Given the description of an element on the screen output the (x, y) to click on. 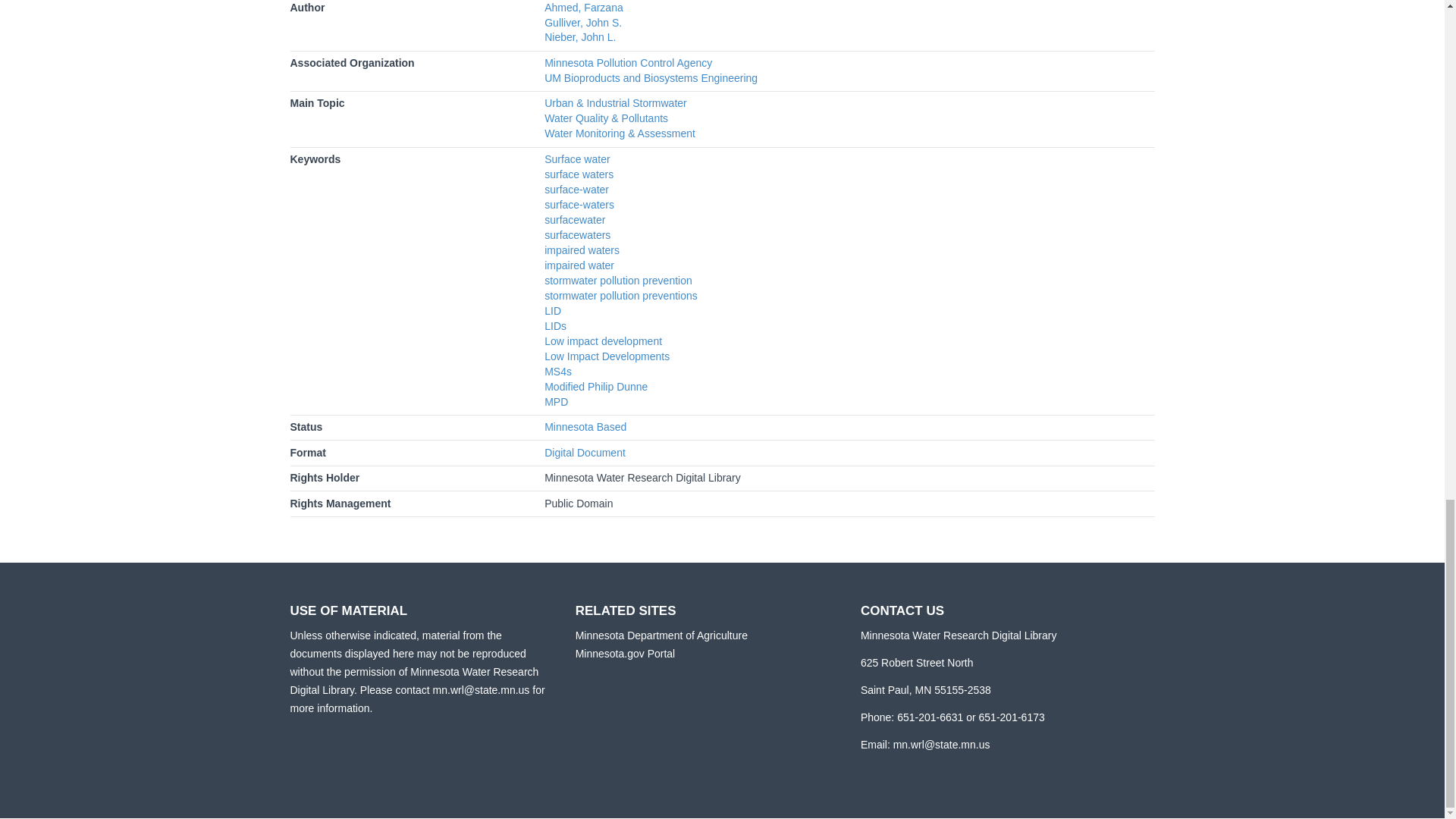
impaired waters (582, 250)
surface-waters (579, 204)
LID (552, 310)
Surface water (577, 159)
Low impact development (603, 340)
UM Bioproducts and Biosystems Engineering (650, 78)
LIDs (555, 326)
Nieber, John L. (579, 37)
Minnesota Pollution Control Agency (627, 62)
Gulliver, John S. (582, 21)
